Given the description of an element on the screen output the (x, y) to click on. 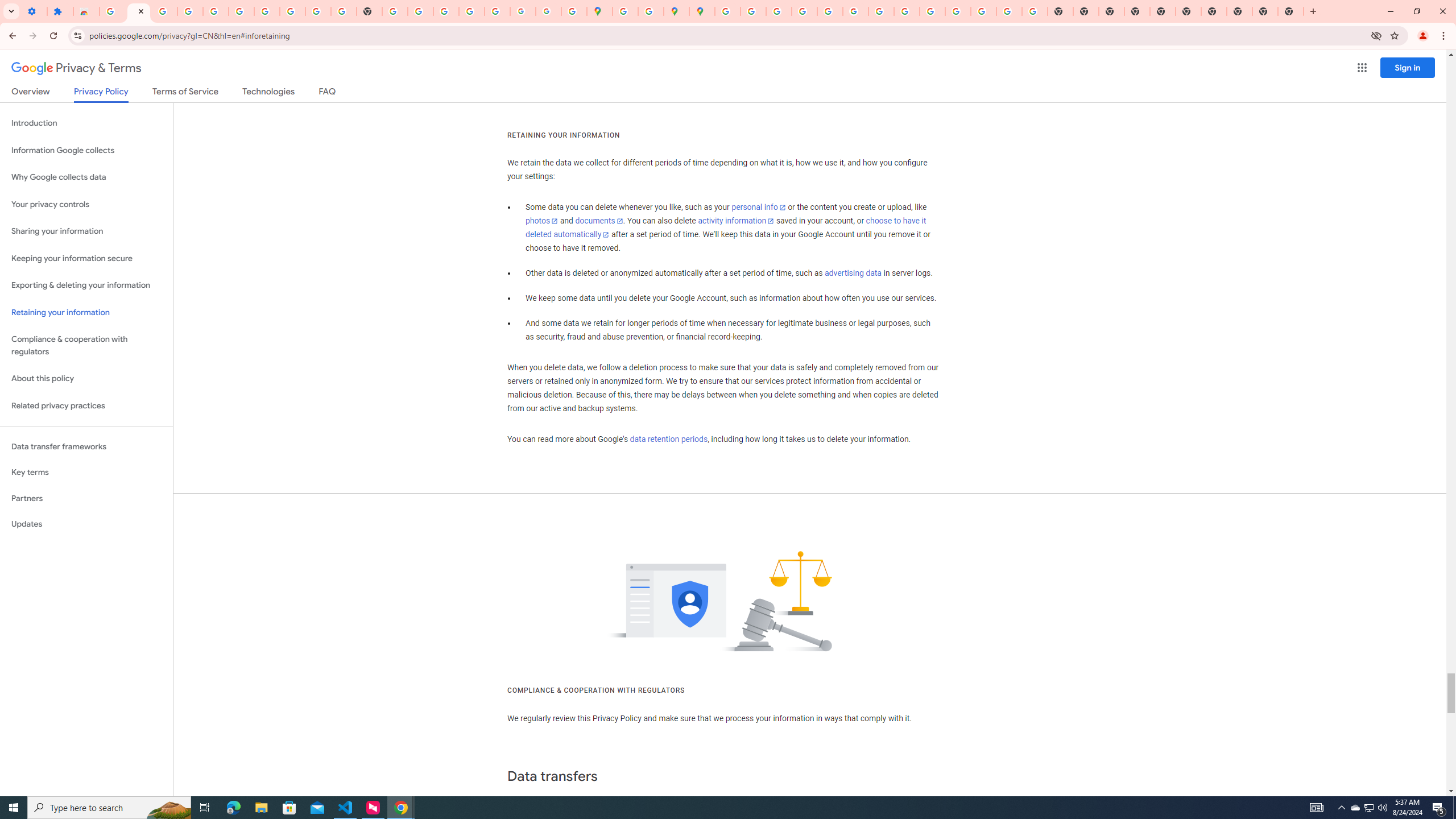
Sign in - Google Accounts (241, 11)
Settings - On startup (34, 11)
choose to have it deleted automatically (725, 227)
Exporting & deleting your information (86, 284)
Information Google collects (86, 150)
